Given the description of an element on the screen output the (x, y) to click on. 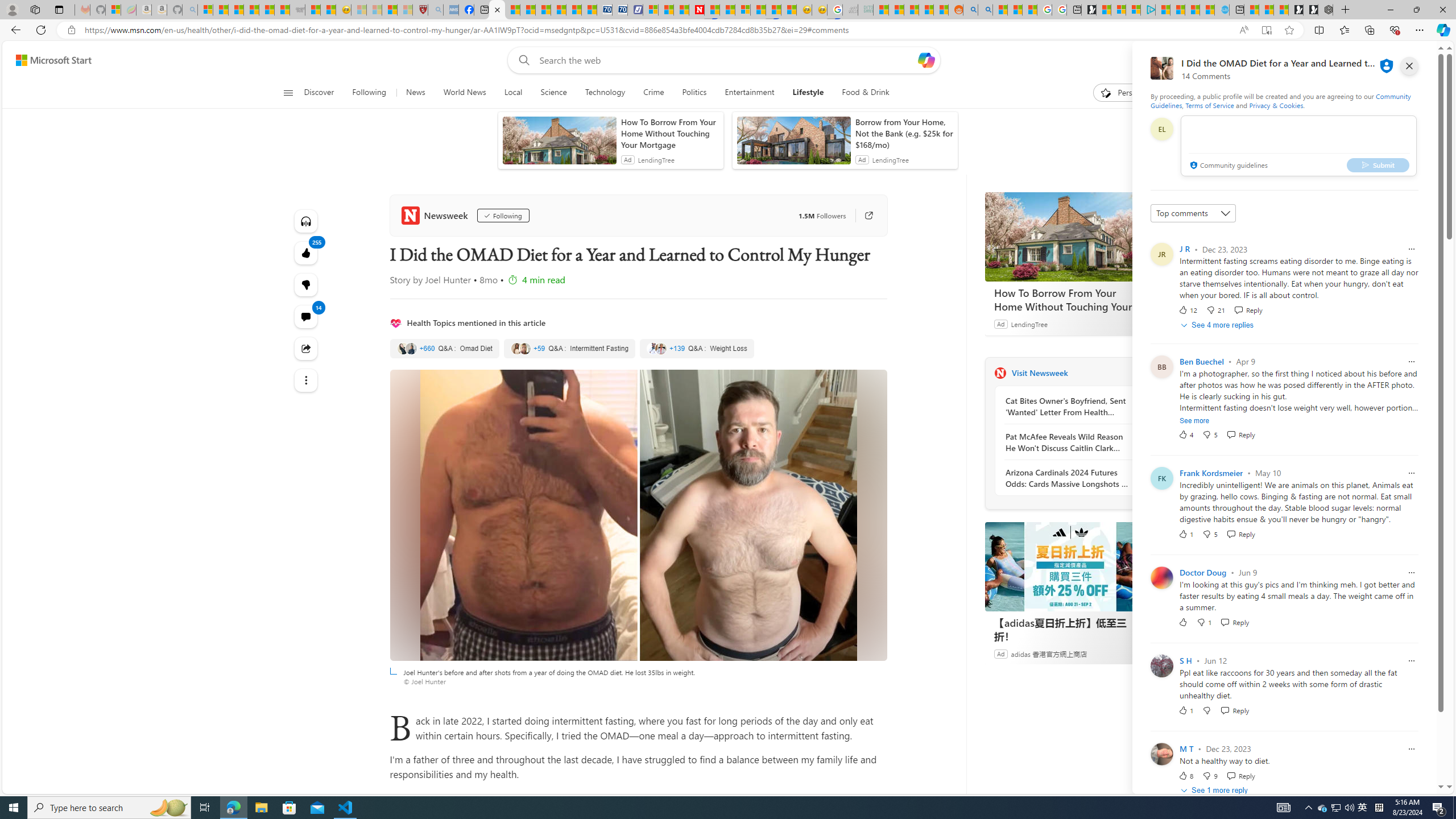
Frank Kordsmeier (1211, 472)
Newsweek - News, Analysis, Politics, Business, Technology (696, 9)
See 4 more replies (1218, 324)
Class: at-item (305, 380)
